Given the description of an element on the screen output the (x, y) to click on. 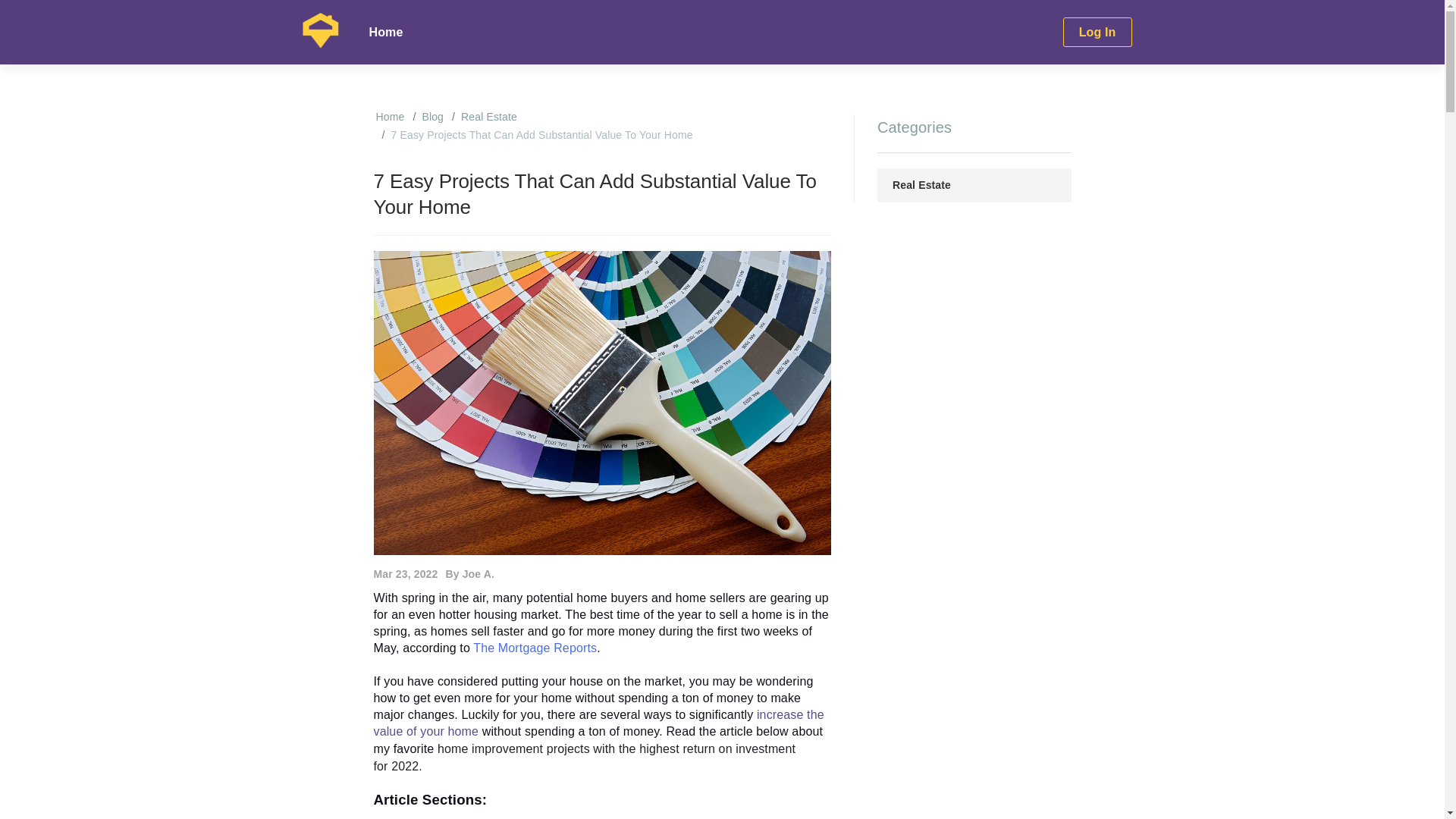
Home (389, 116)
Real Estate (488, 116)
Real Estate (974, 185)
Home (386, 32)
Log In (1096, 32)
increase the value of your home (598, 722)
Blog (433, 116)
The Mortgage Reports (534, 647)
